Given the description of an element on the screen output the (x, y) to click on. 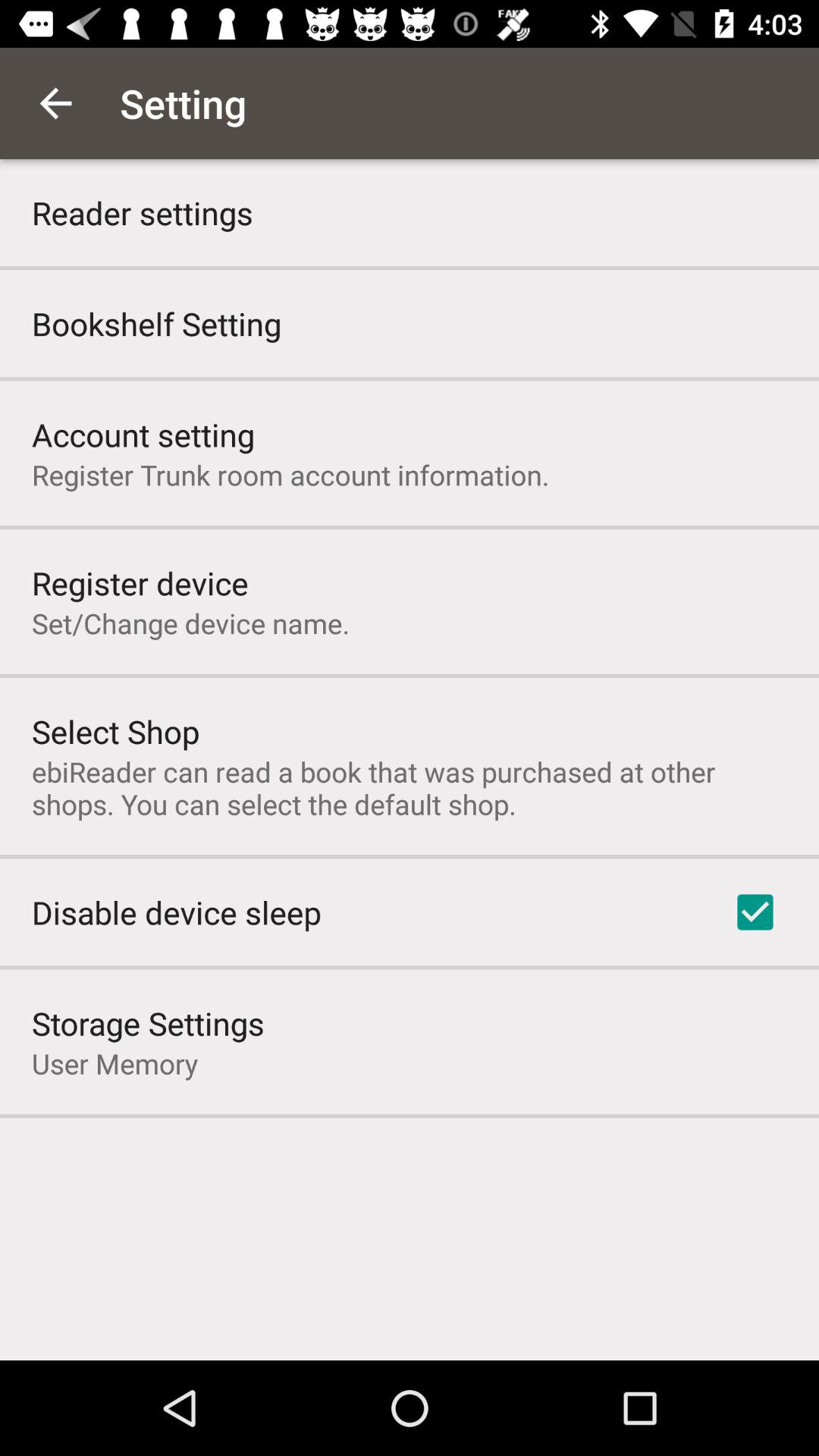
launch the app above the reader settings (55, 103)
